Given the description of an element on the screen output the (x, y) to click on. 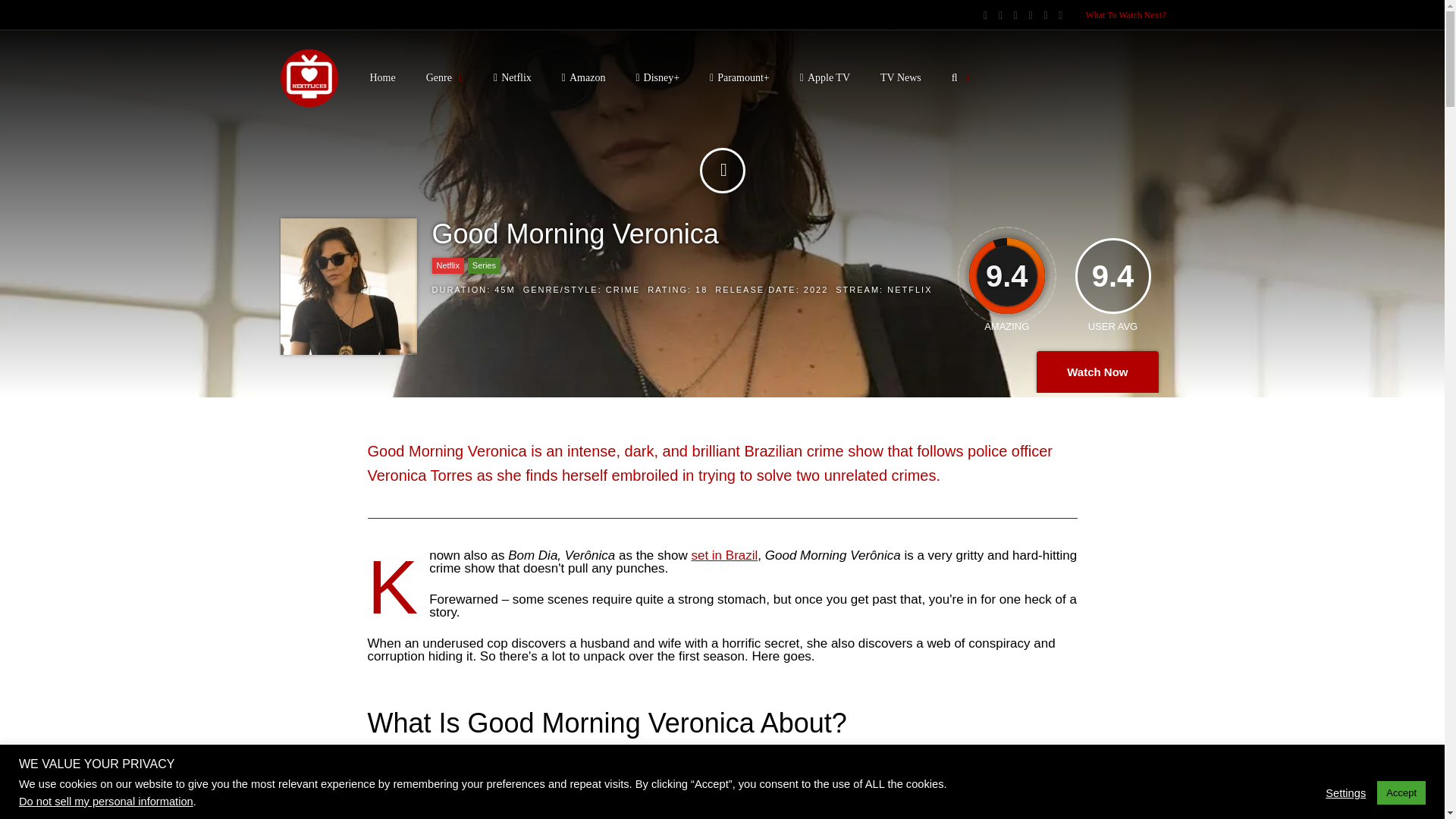
What To Watch Next? (1125, 15)
Genre (444, 77)
NextFlicks (309, 104)
